Given the description of an element on the screen output the (x, y) to click on. 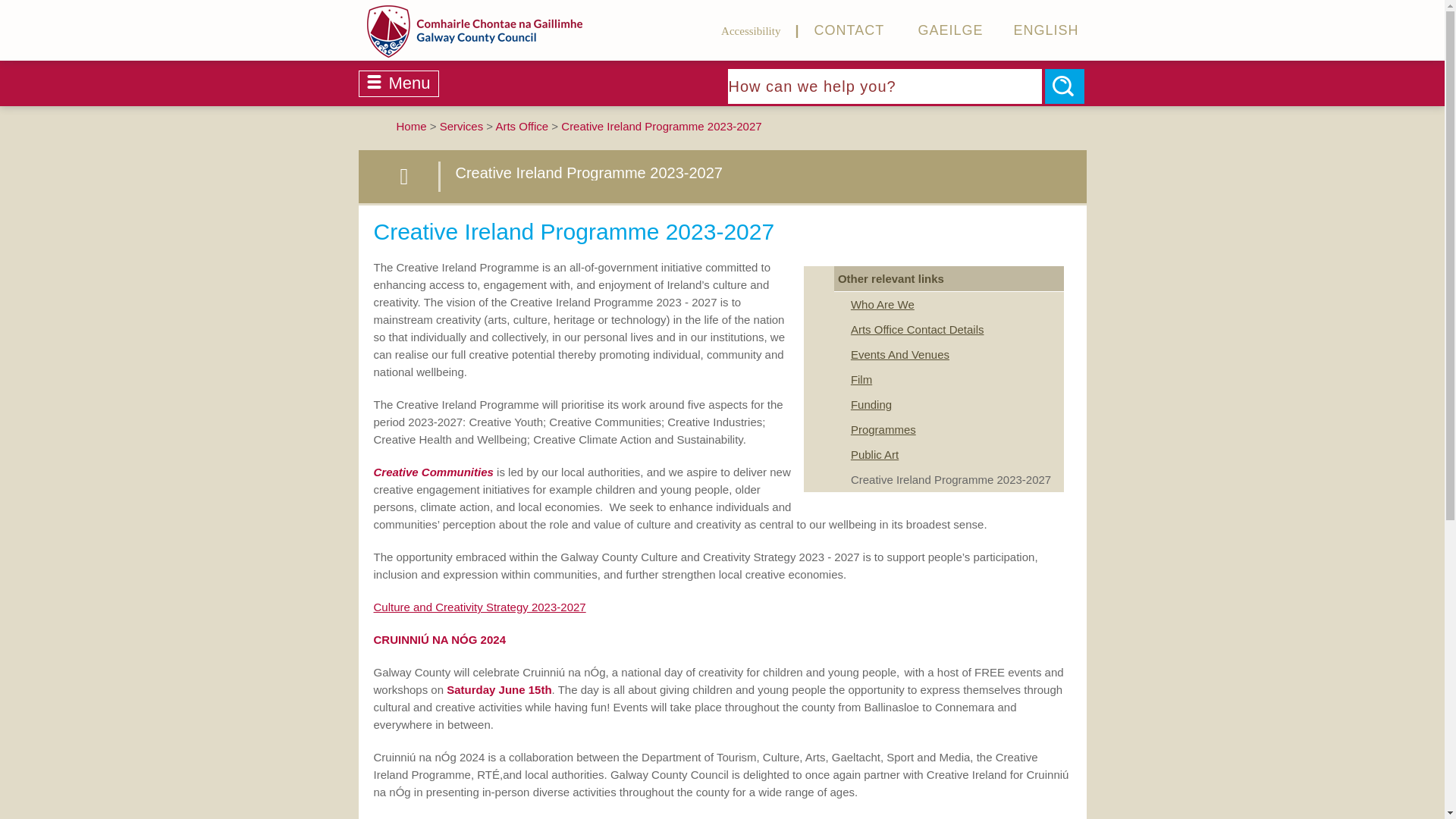
CONTACT (834, 30)
GAEILGE (934, 30)
How can we help you? (885, 86)
Menu (398, 83)
ENGLISH (1030, 30)
